Given the description of an element on the screen output the (x, y) to click on. 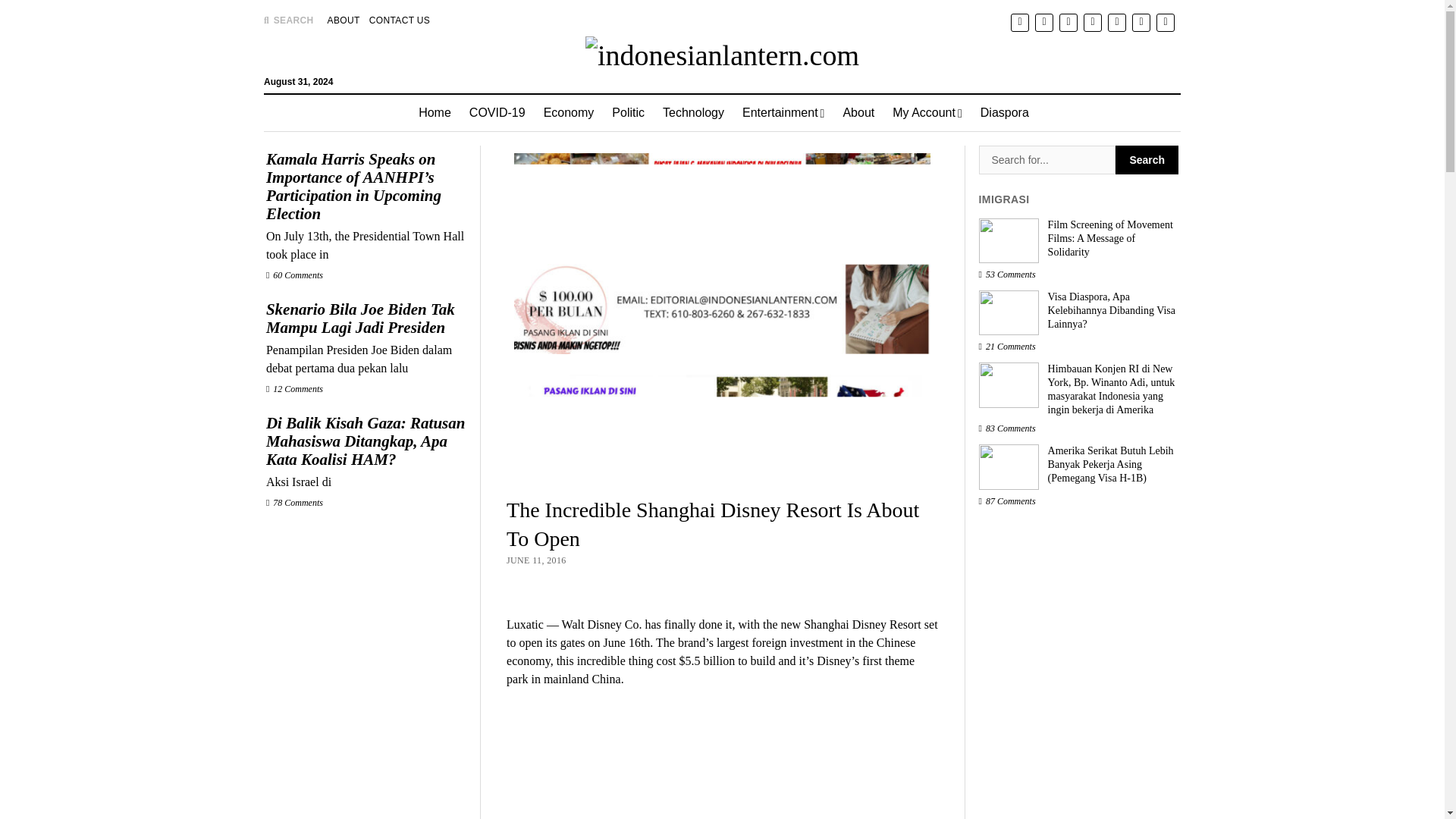
Search (1146, 159)
Technology (693, 113)
60 Comments (294, 275)
COVID-19 (497, 113)
Entertainment (782, 113)
My Account (927, 113)
78 Comments (294, 502)
Economy (569, 113)
12 Comments (294, 388)
About (857, 113)
